Given the description of an element on the screen output the (x, y) to click on. 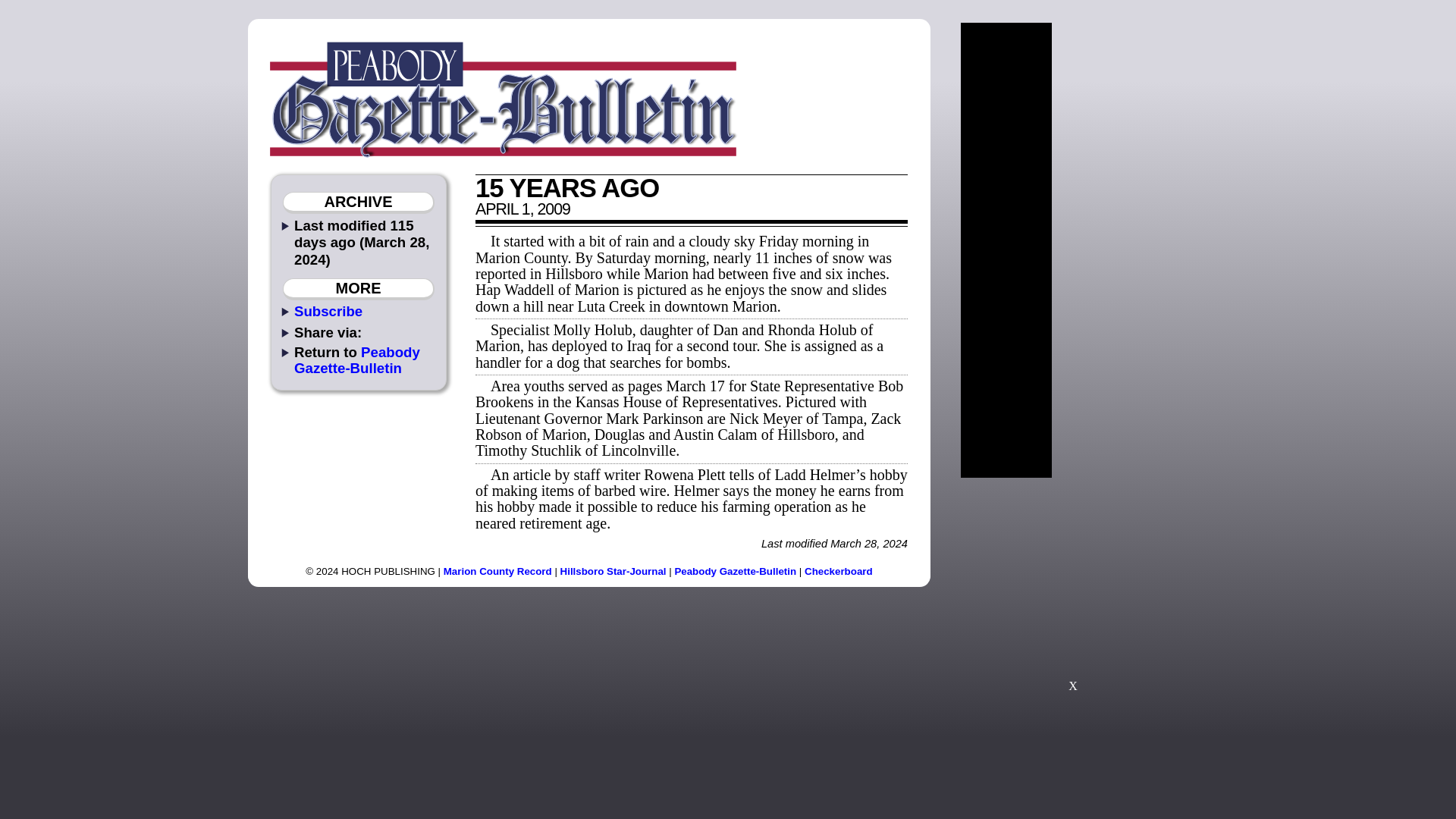
Marion County Record (497, 571)
Hillsboro Star-Journal (613, 571)
Peabody Gazette-Bulletin (357, 359)
Subscribe (328, 311)
Checkerboard (838, 571)
Advertisement (1072, 591)
Peabody Gazette-Bulletin (735, 571)
